Given the description of an element on the screen output the (x, y) to click on. 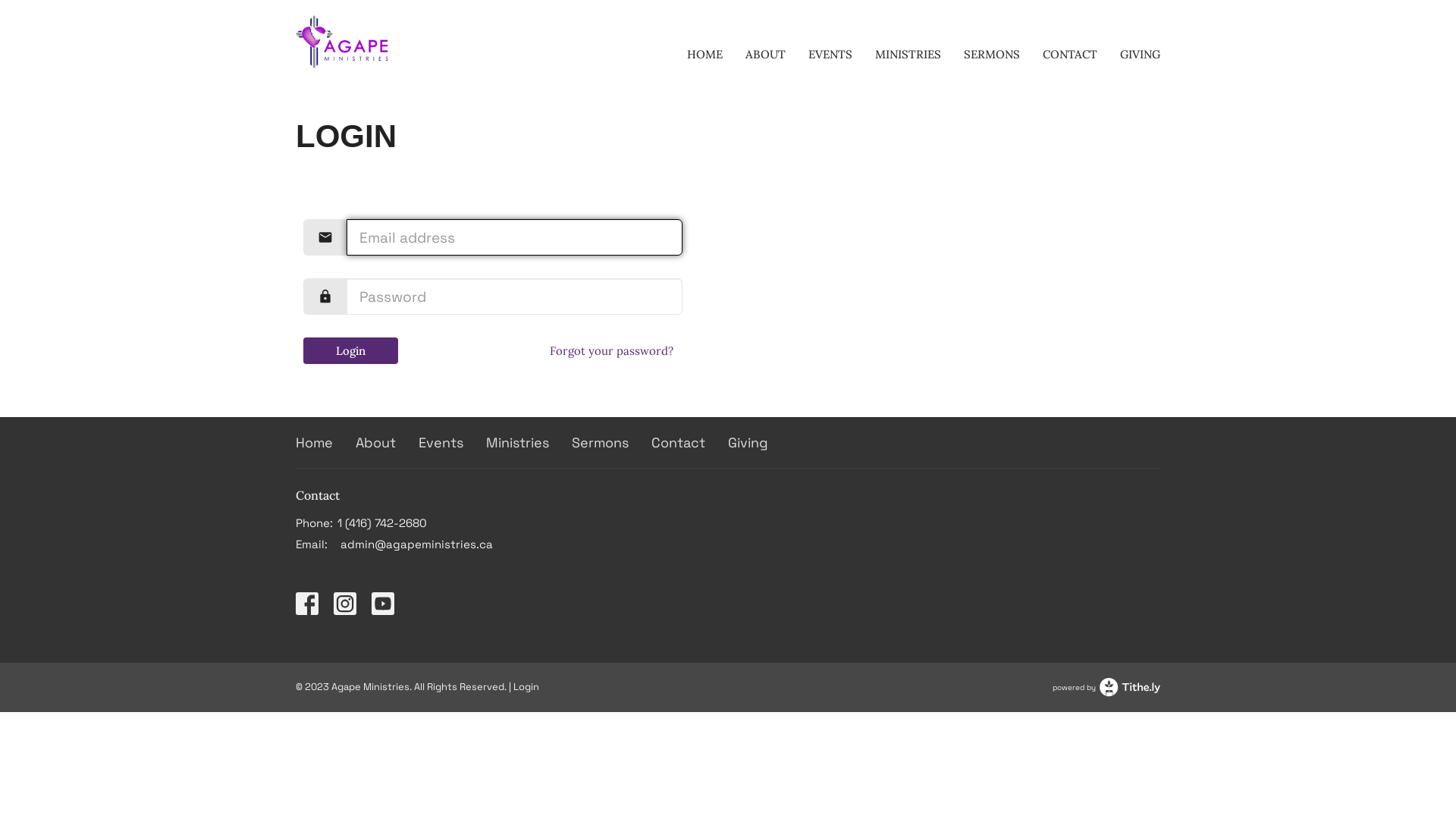
powered by
Website Developed by Tithely Element type: text (1106, 686)
Login Element type: text (526, 686)
HOME Element type: text (704, 53)
MINISTRIES Element type: text (908, 53)
Forgot your password? Element type: text (611, 350)
About Element type: text (375, 442)
Home Element type: text (313, 442)
Events Element type: text (440, 442)
SERMONS Element type: text (991, 53)
admin@agapeministries.ca Element type: text (414, 543)
Giving Element type: text (748, 442)
ABOUT Element type: text (765, 53)
1 (416) 742-2680 Element type: text (381, 522)
GIVING Element type: text (1140, 53)
Login Element type: text (350, 350)
Sermons Element type: text (599, 442)
EVENTS Element type: text (830, 53)
CONTACT Element type: text (1069, 53)
Contact Element type: text (678, 442)
Ministries Element type: text (517, 442)
